Given the description of an element on the screen output the (x, y) to click on. 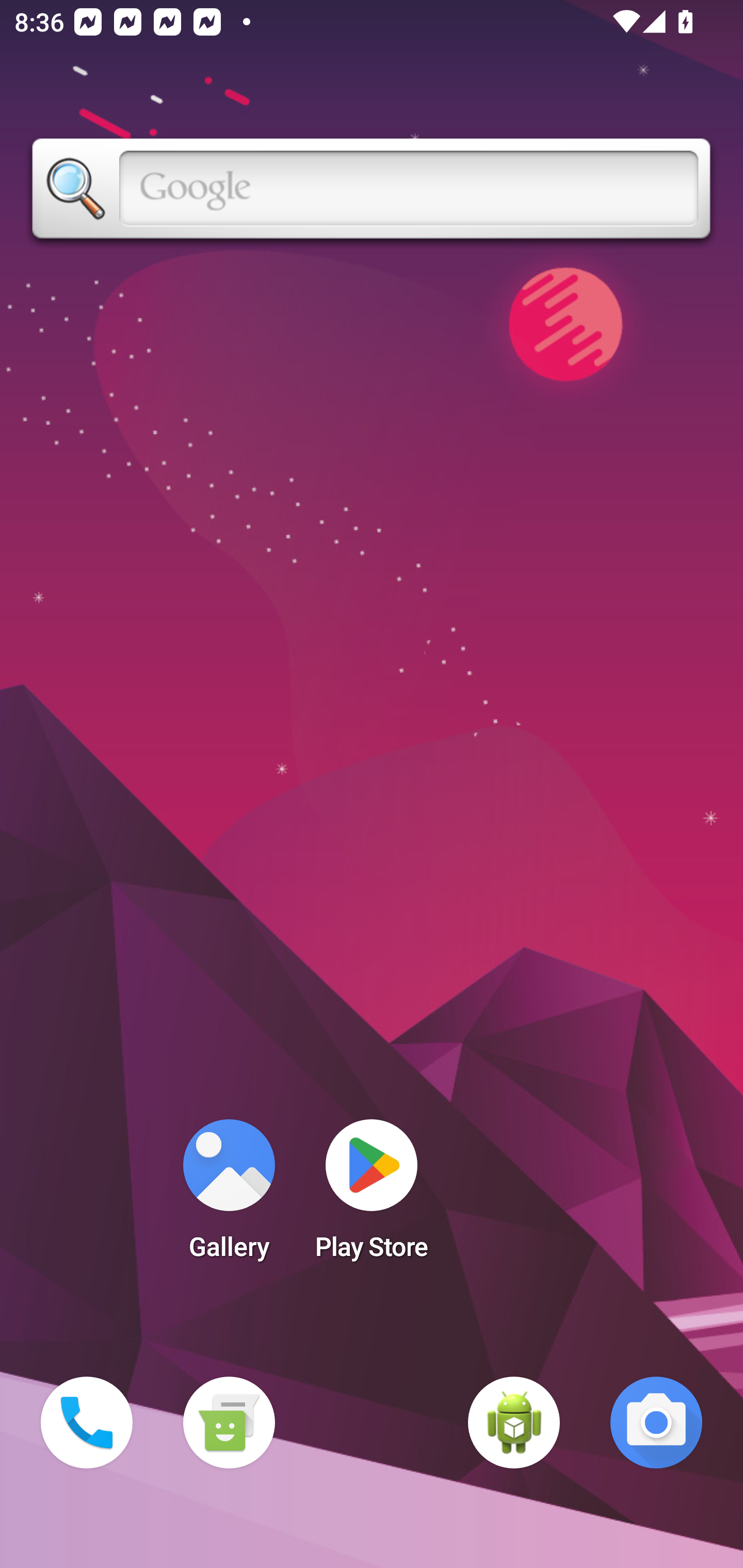
Gallery (228, 1195)
Play Store (371, 1195)
Phone (86, 1422)
Messaging (228, 1422)
WebView Browser Tester (513, 1422)
Camera (656, 1422)
